Given the description of an element on the screen output the (x, y) to click on. 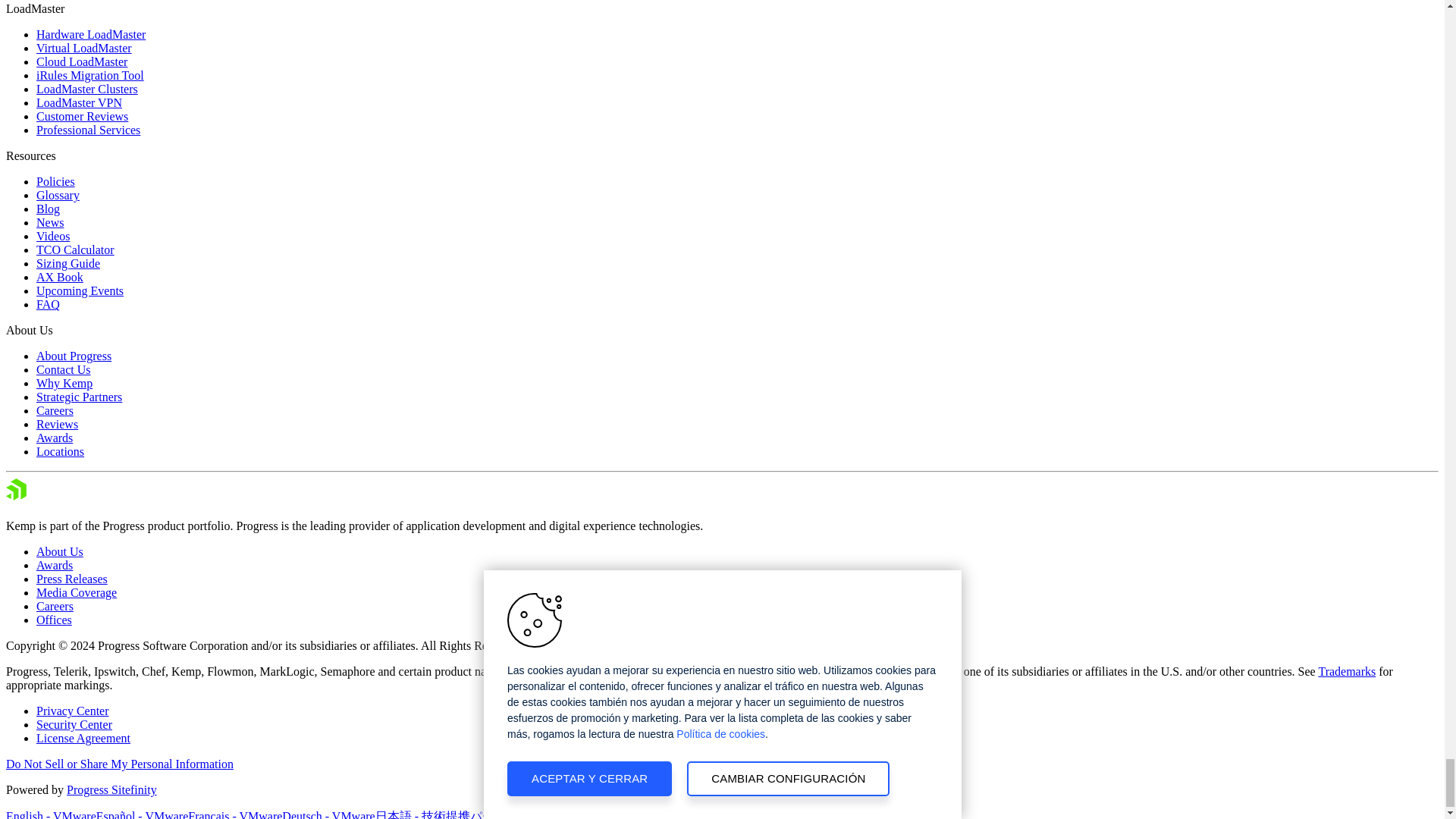
Progress Software Logo (60, 491)
